Given the description of an element on the screen output the (x, y) to click on. 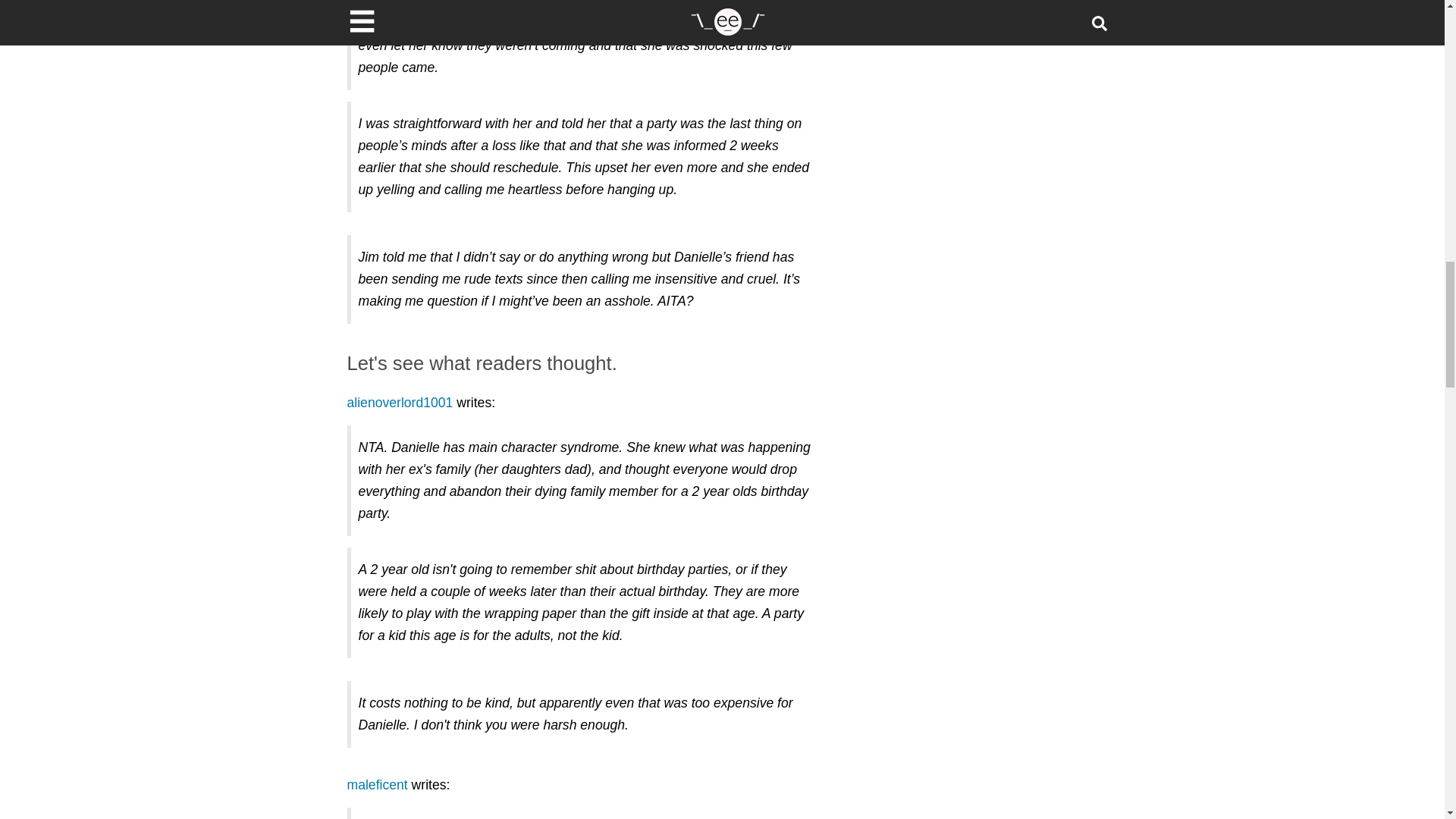
alienoverlord1001 (399, 402)
maleficent (377, 784)
